Given the description of an element on the screen output the (x, y) to click on. 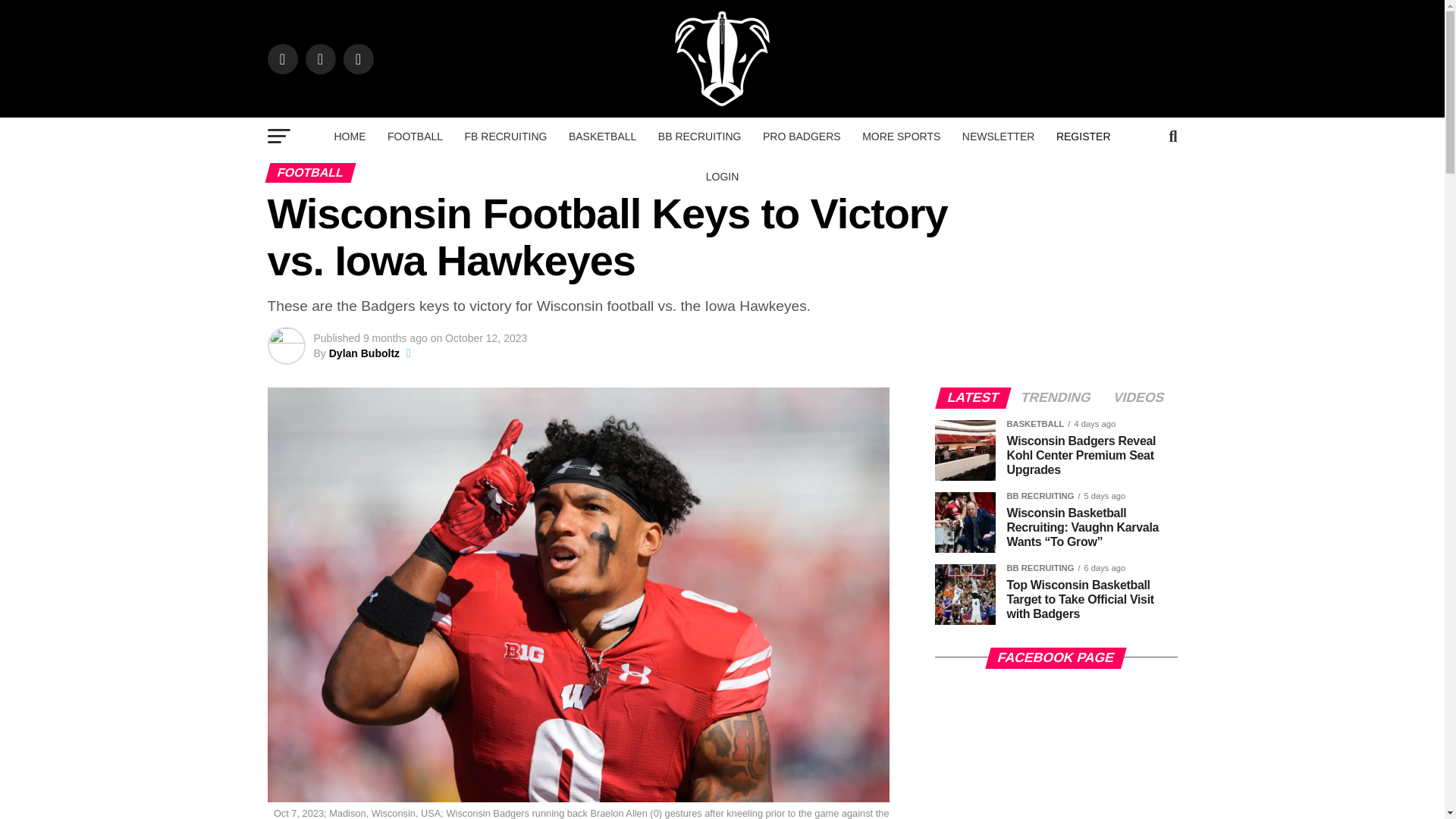
Posts by Dylan Buboltz (363, 353)
HOME (349, 136)
BASKETBALL (602, 136)
BB RECRUITING (700, 136)
FB RECRUITING (505, 136)
FOOTBALL (414, 136)
